Given the description of an element on the screen output the (x, y) to click on. 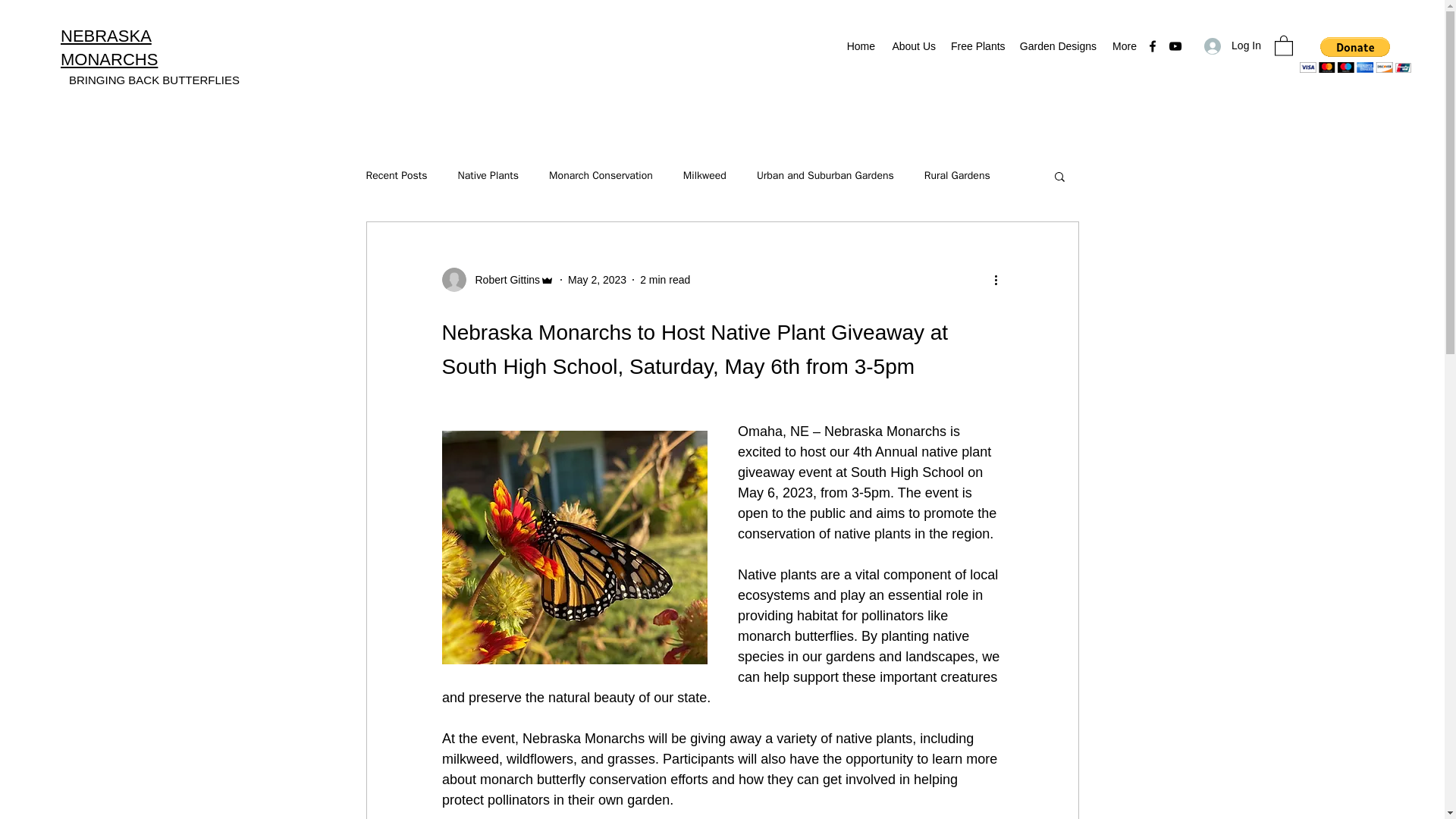
Robert Gittins (502, 279)
Monarch Conservation (600, 175)
Free Plants (977, 46)
NEBRASKA MONARCHS (109, 47)
2 min read (665, 279)
Home (860, 46)
About Us (912, 46)
Garden Designs (1057, 46)
Urban and Suburban Gardens (825, 175)
May 2, 2023 (596, 279)
Native Plants (488, 175)
Milkweed (704, 175)
Robert Gittins (497, 279)
Log In (1232, 45)
Rural Gardens (957, 175)
